Given the description of an element on the screen output the (x, y) to click on. 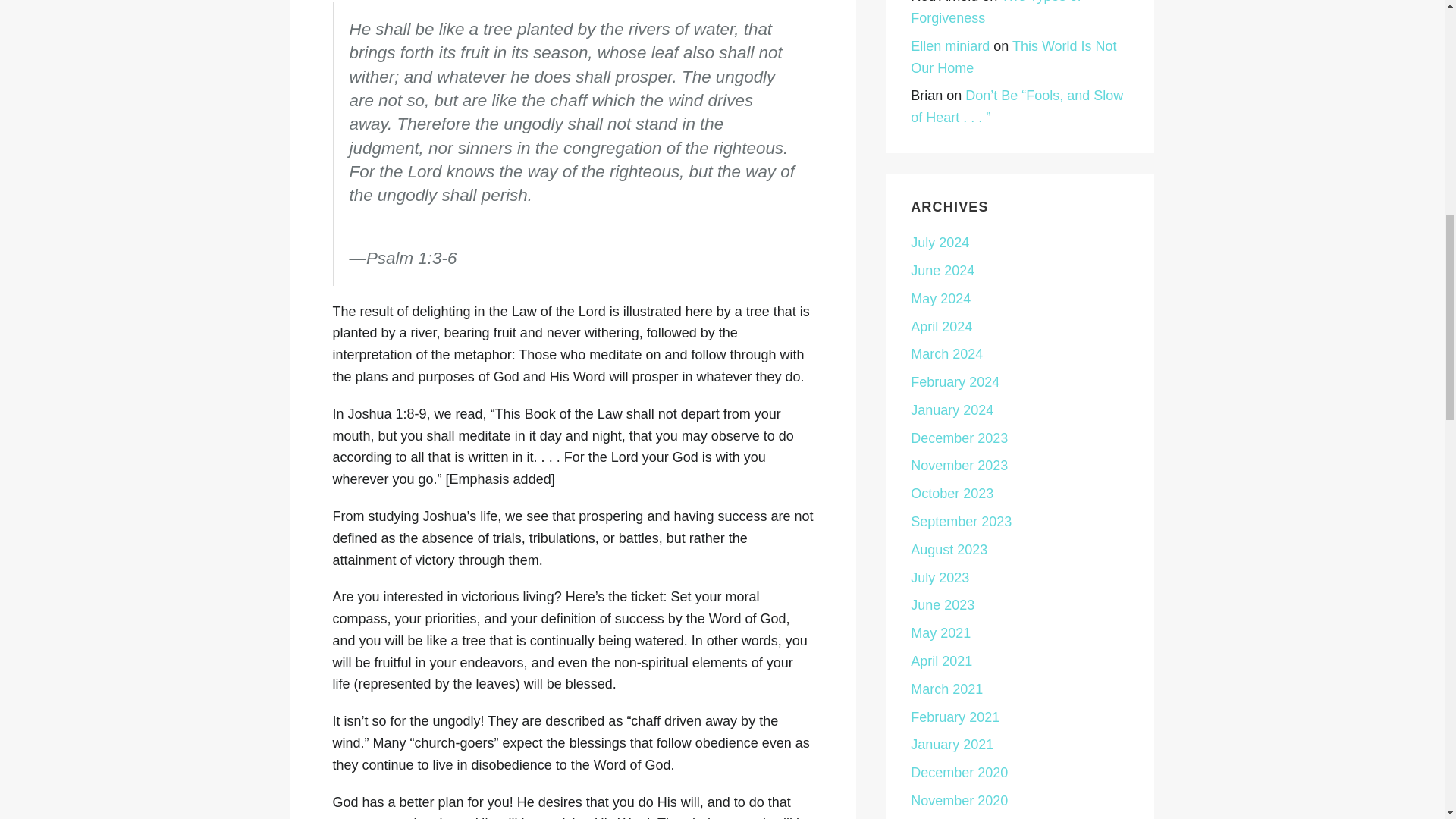
September 2023 (961, 521)
February 2021 (954, 717)
March 2024 (946, 353)
January 2021 (951, 744)
December 2020 (959, 772)
May 2021 (941, 632)
December 2023 (959, 437)
Two Types of Forgiveness (996, 12)
October 2023 (951, 493)
November 2023 (959, 465)
This World Is Not Our Home (1013, 57)
July 2024 (940, 242)
February 2024 (954, 381)
July 2023 (940, 577)
August 2023 (949, 549)
